Given the description of an element on the screen output the (x, y) to click on. 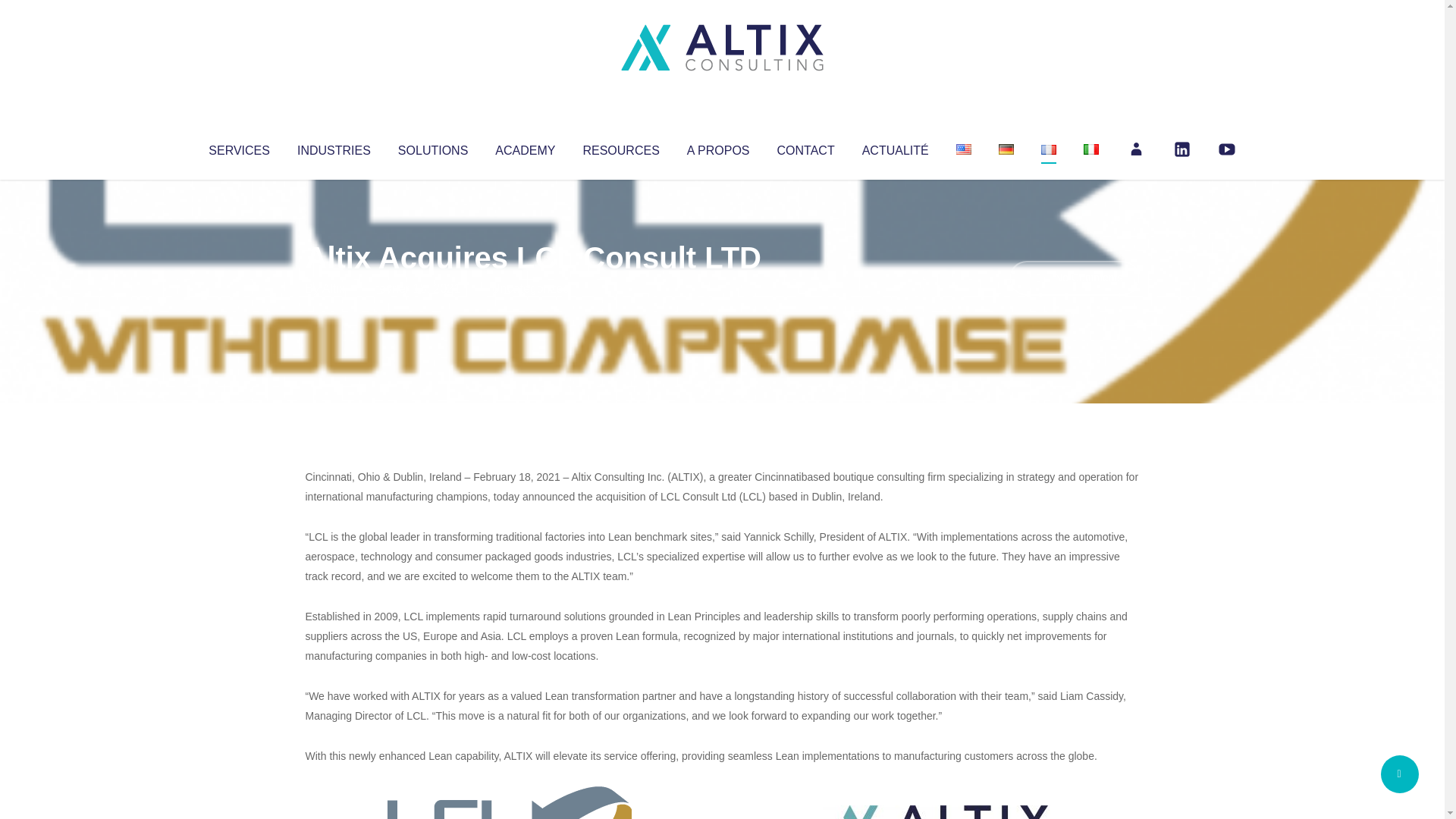
SERVICES (238, 146)
RESOURCES (620, 146)
Articles par Altix (333, 287)
Altix (333, 287)
A PROPOS (718, 146)
SOLUTIONS (432, 146)
Uncategorized (530, 287)
INDUSTRIES (334, 146)
No Comments (1073, 278)
ACADEMY (524, 146)
